Given the description of an element on the screen output the (x, y) to click on. 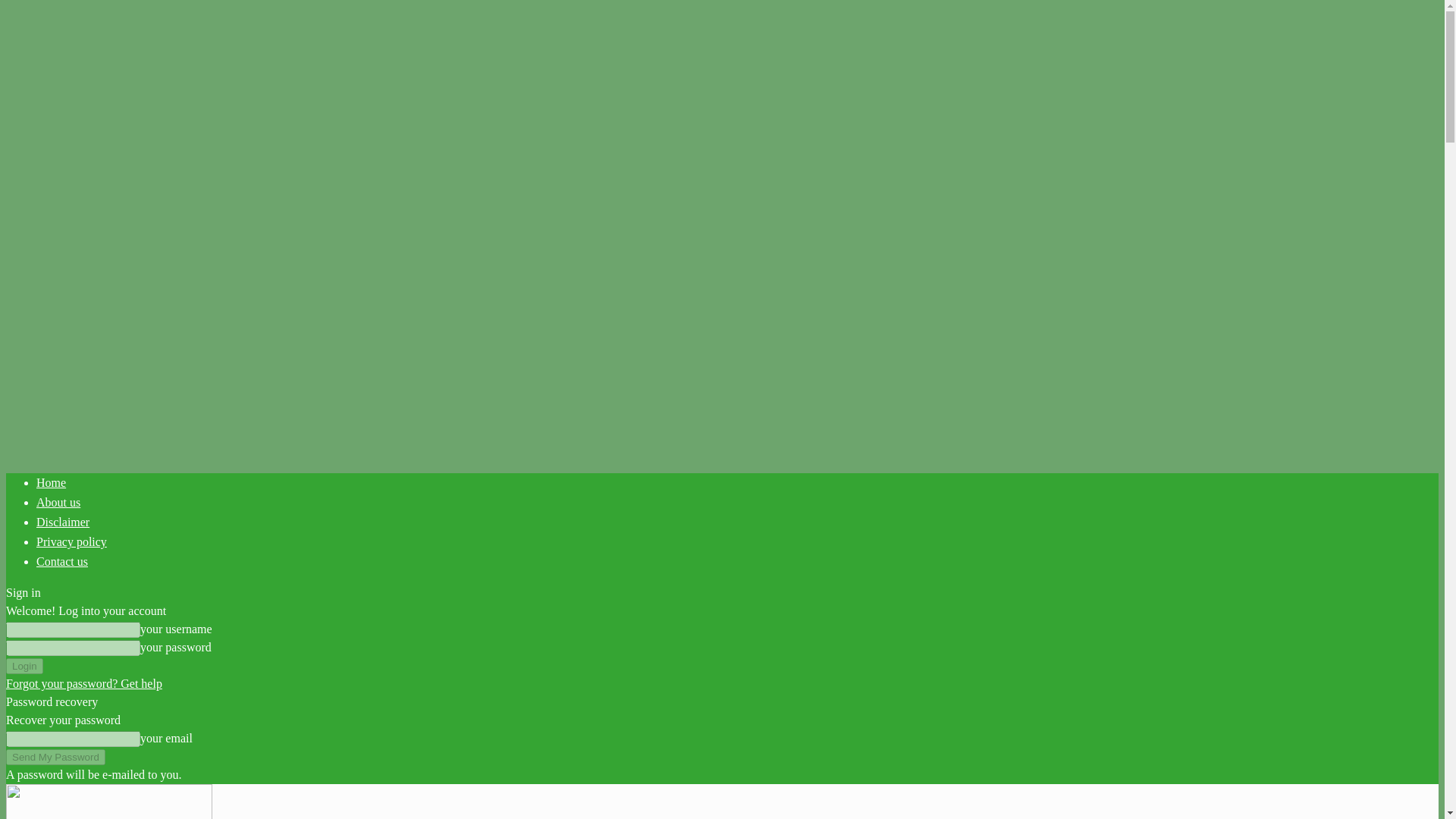
Forgot your password? Get help (83, 683)
Home (50, 481)
Privacy policy (71, 541)
About us (58, 502)
Send My Password (54, 756)
Contact us (61, 561)
Disclaimer (62, 521)
Login (24, 666)
